Given the description of an element on the screen output the (x, y) to click on. 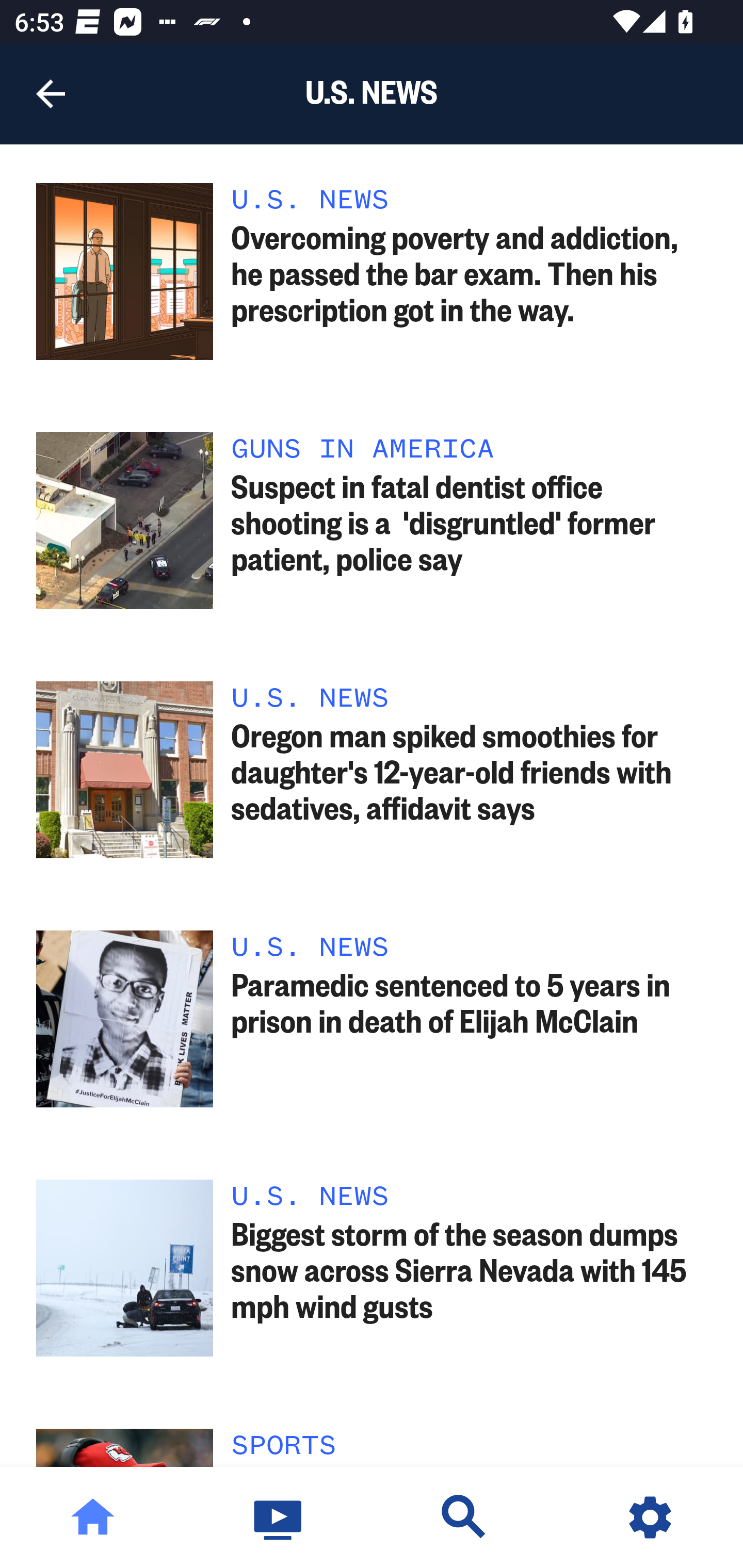
Navigate up (50, 93)
Watch (278, 1517)
Discover (464, 1517)
Settings (650, 1517)
